Given the description of an element on the screen output the (x, y) to click on. 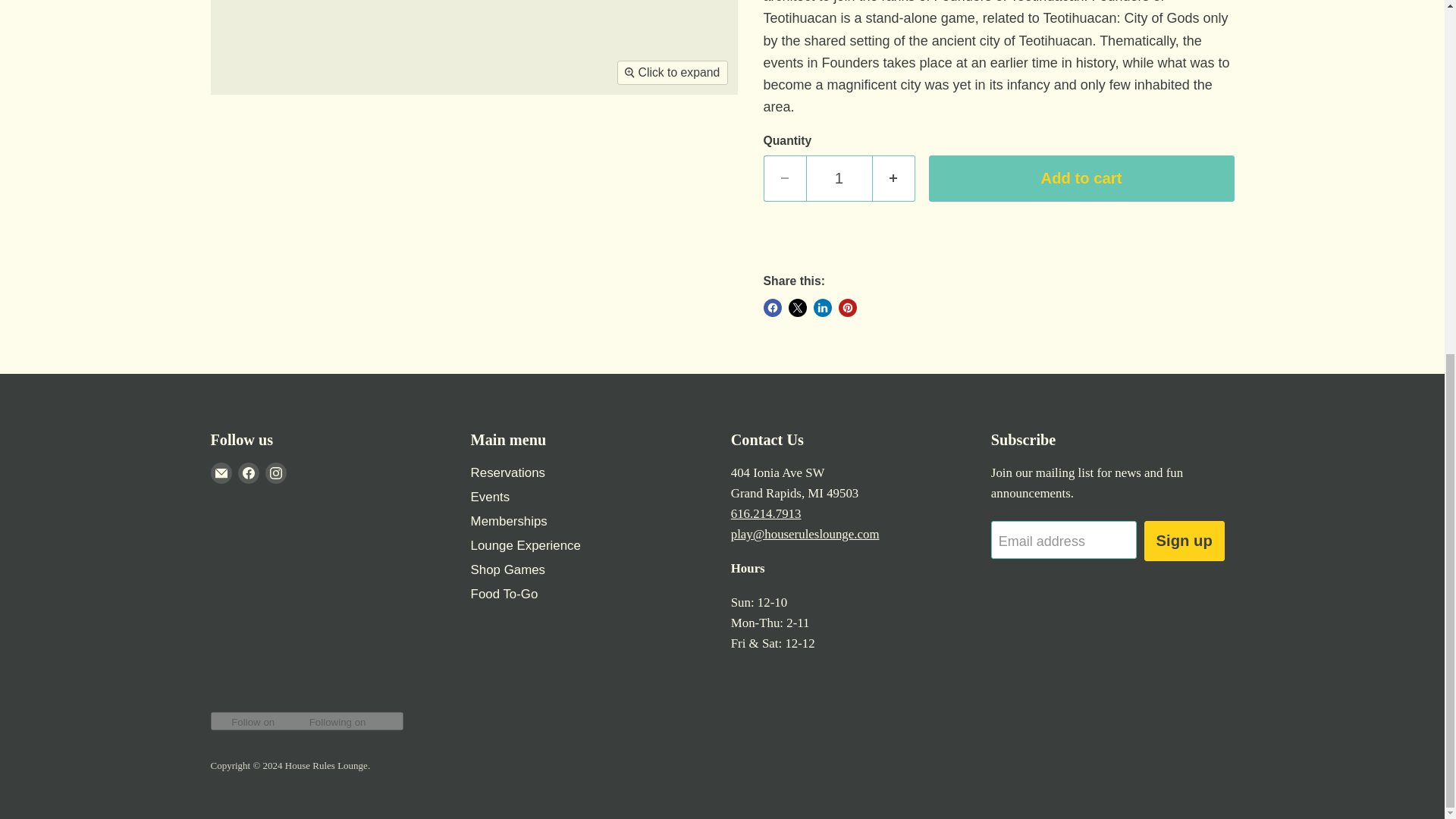
Facebook (248, 473)
Email (221, 473)
Instagram (275, 473)
1 (838, 178)
